Given the description of an element on the screen output the (x, y) to click on. 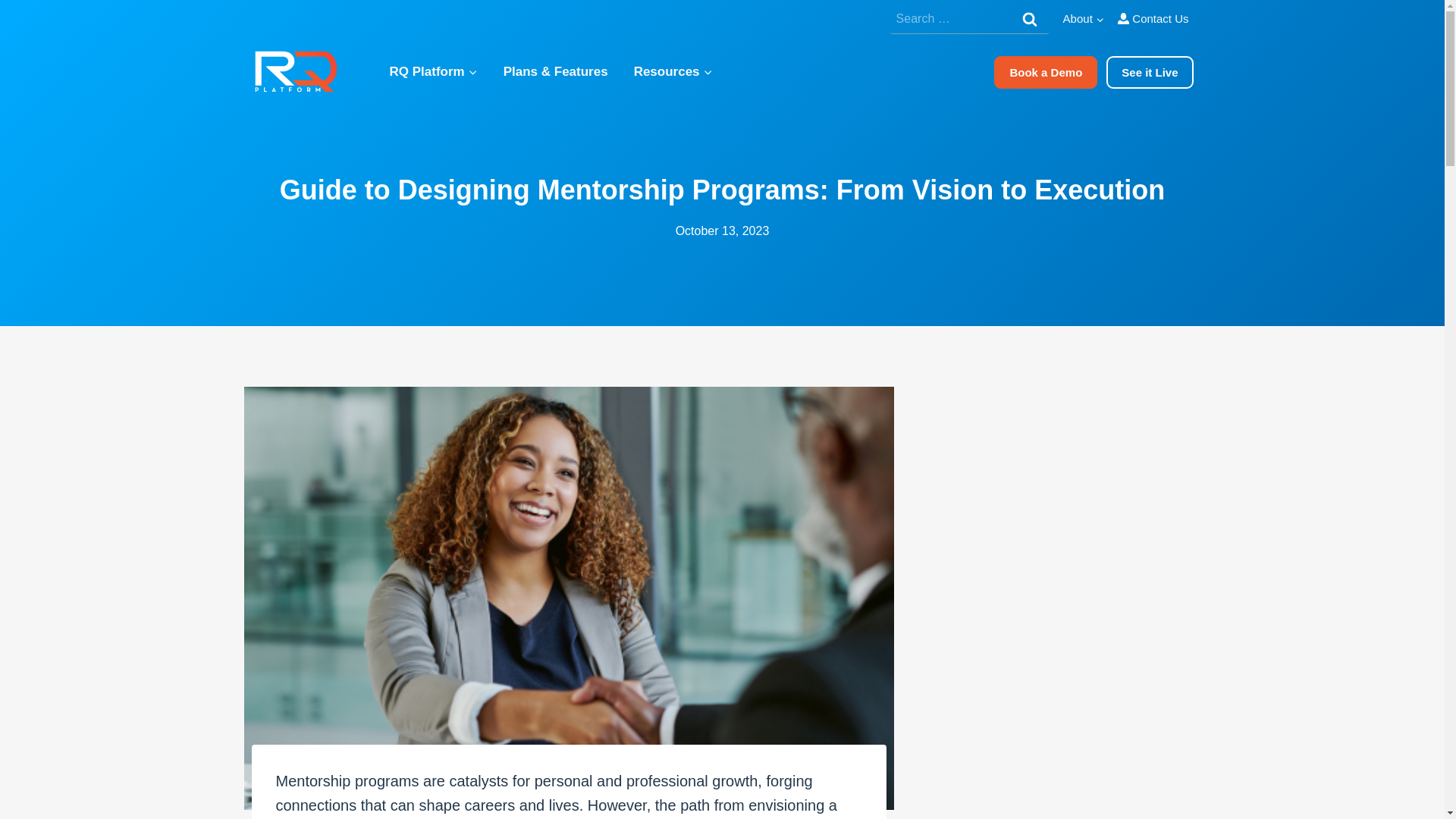
Search (1029, 18)
Search (1029, 18)
See it Live (1149, 72)
Search (1029, 18)
Resources (673, 70)
Contact Us (1152, 19)
About (1083, 19)
Book a Demo (1045, 72)
RQ Platform (432, 70)
